Given the description of an element on the screen output the (x, y) to click on. 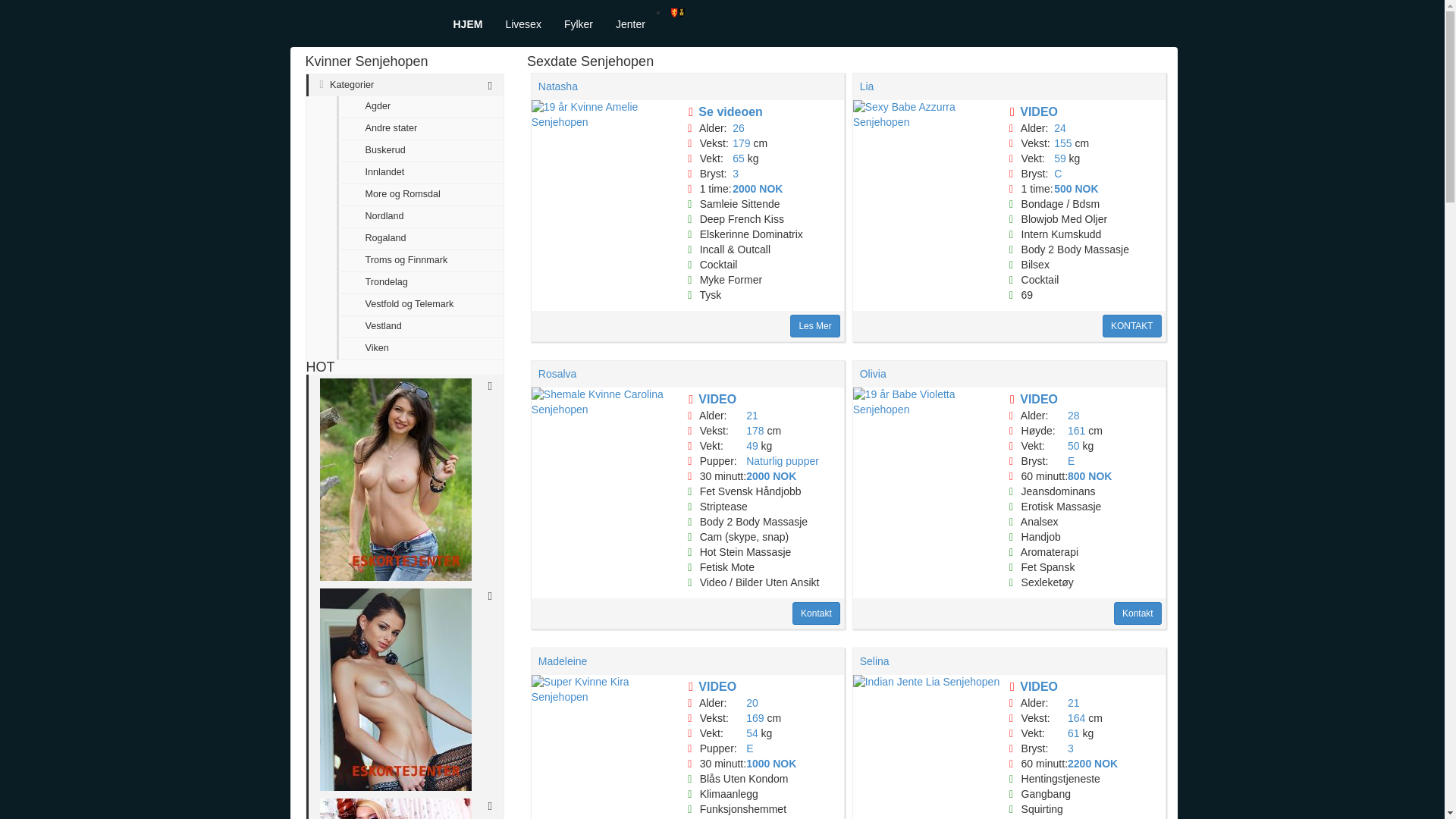
Rogaland (419, 239)
Troms og Finnmark (419, 260)
26 (738, 128)
Livesex (522, 23)
Buskerud (419, 151)
Nordland (419, 217)
Lia (867, 86)
Vestfold og Telemark (419, 305)
Innlandet (419, 173)
Vestland (419, 327)
Jenter (630, 23)
Agder (419, 106)
VIDEO (1039, 111)
179 (740, 143)
HJEM (467, 23)
